Given the description of an element on the screen output the (x, y) to click on. 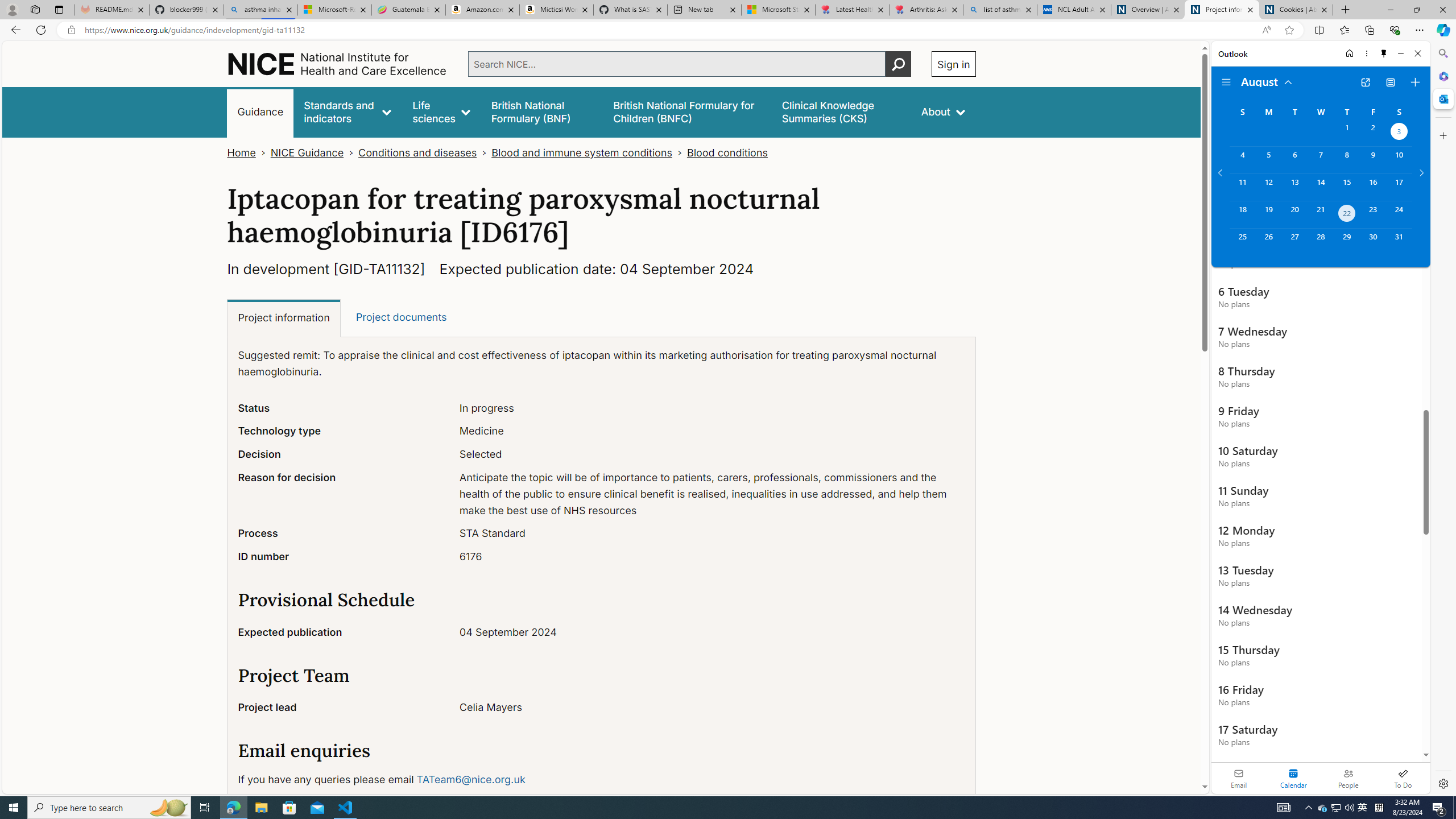
To Do (1402, 777)
Sunday, August 25, 2024.  (1242, 241)
Friday, August 30, 2024.  (1372, 241)
list of asthma inhalers uk - Search (1000, 9)
Friday, August 16, 2024.  (1372, 186)
Blood and immune system conditions> (589, 152)
Tab actions menu (58, 9)
Wednesday, August 28, 2024.  (1320, 241)
Saturday, August 17, 2024.  (1399, 186)
Refresh (40, 29)
Thursday, August 1, 2024.  (1346, 132)
Close Outlook pane (1442, 98)
Home> (248, 152)
